Given the description of an element on the screen output the (x, y) to click on. 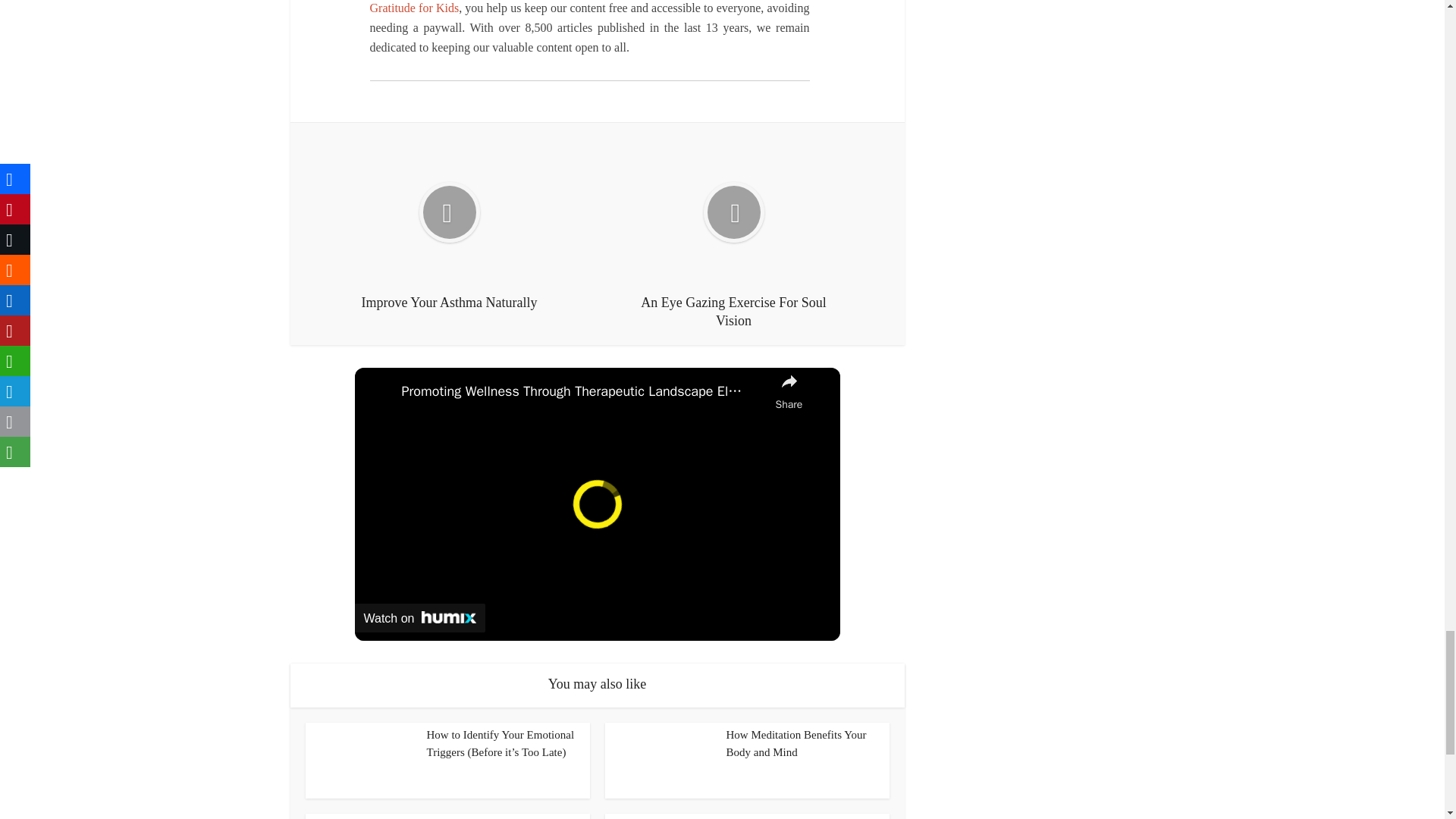
share (789, 390)
How Meditation Benefits Your Body and Mind (796, 743)
